Given the description of an element on the screen output the (x, y) to click on. 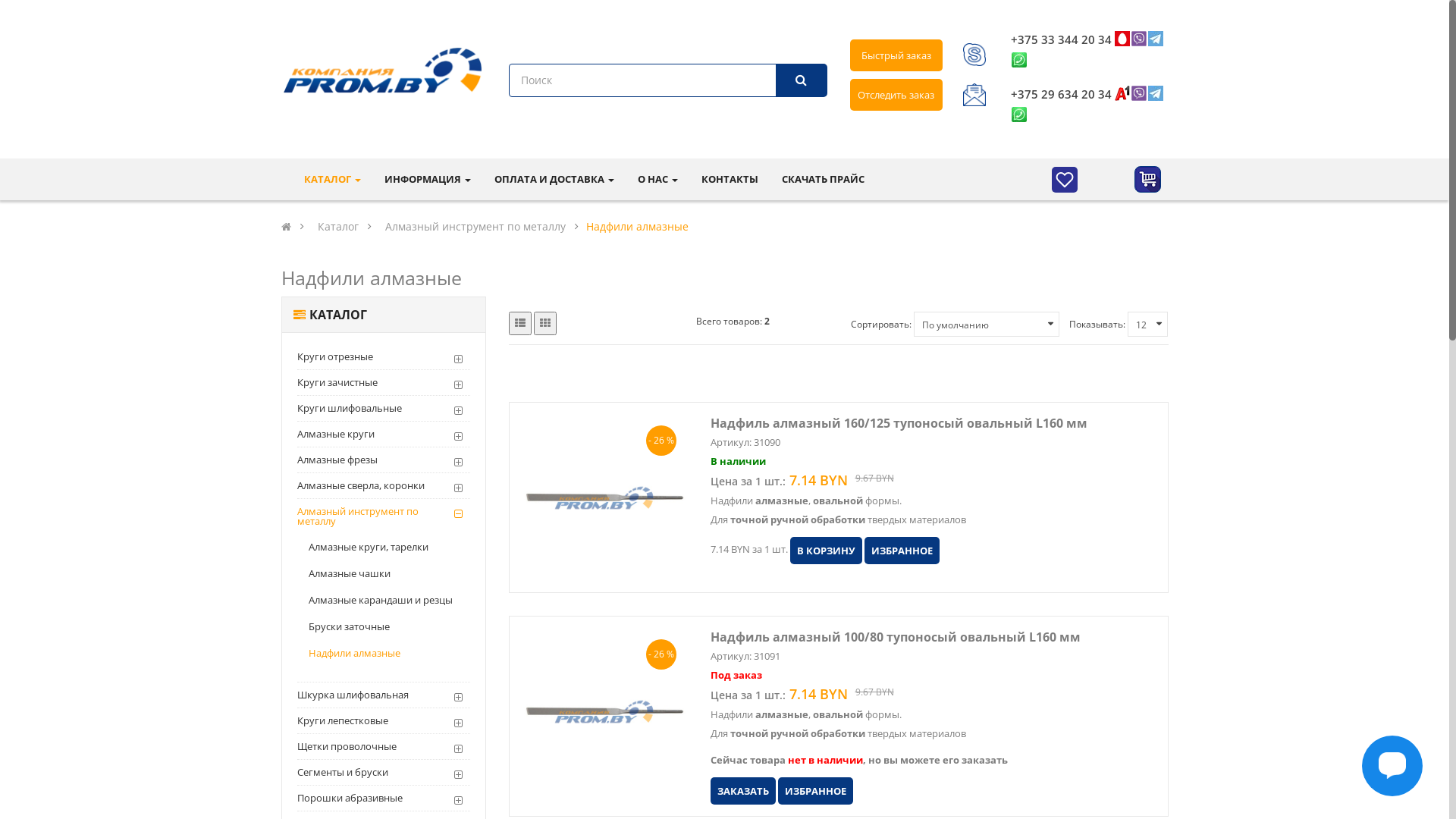
+375 29 634 20 34 Element type: text (1060, 93)
prom@prom.by Element type: hover (974, 97)
prom.by Element type: hover (974, 56)
Prom.by Element type: hover (382, 69)
+375 33 344 20 34 Element type: text (1060, 39)
